Given the description of an element on the screen output the (x, y) to click on. 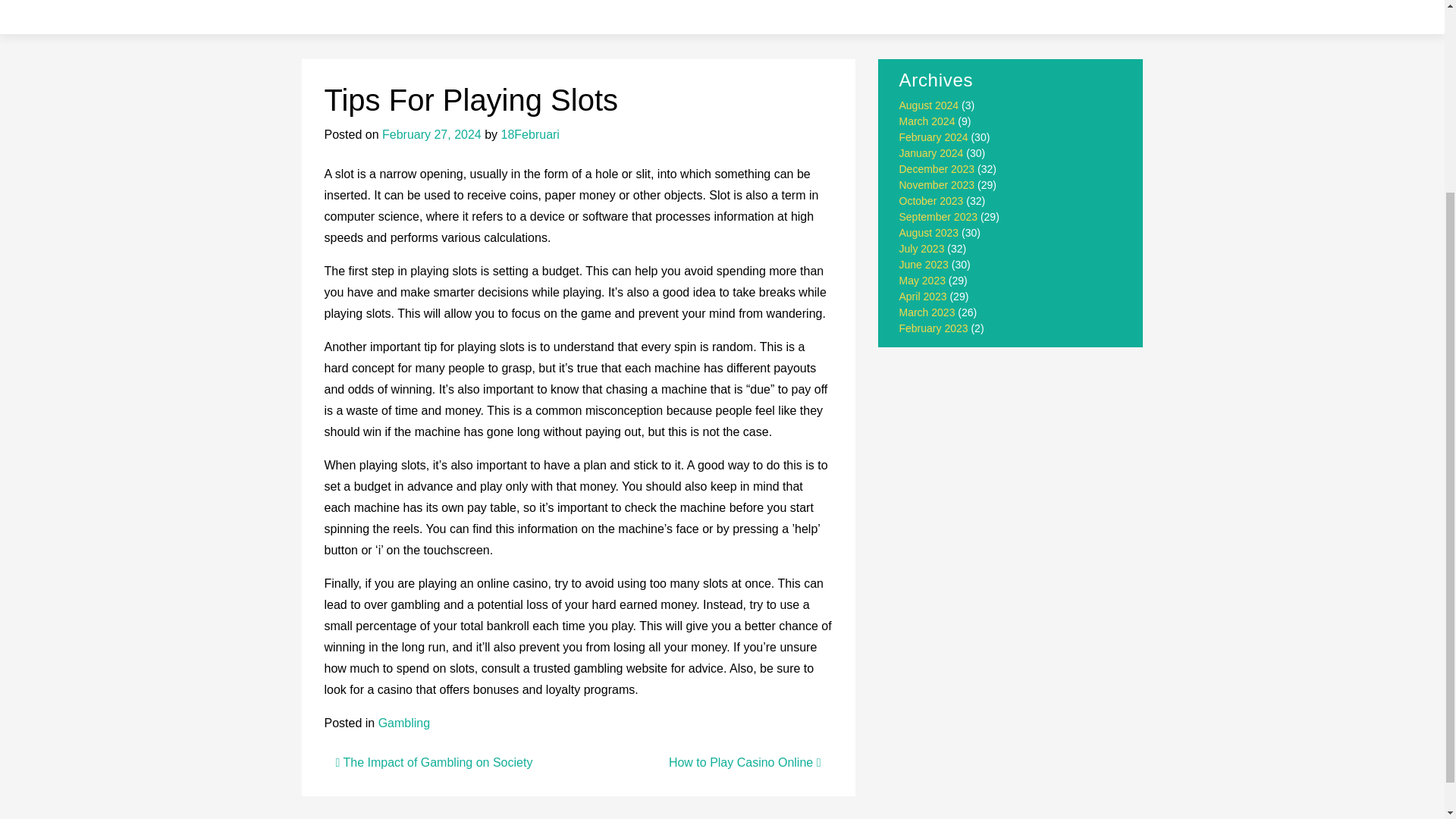
February 27, 2024 (431, 133)
July 2023 (921, 248)
May 2023 (921, 280)
 The Impact of Gambling on Society (433, 762)
April 2023 (923, 296)
February 2023 (933, 328)
February 2024 (933, 137)
December 2023 (937, 168)
August 2024 (929, 105)
How to Play Casino Online  (744, 762)
